Given the description of an element on the screen output the (x, y) to click on. 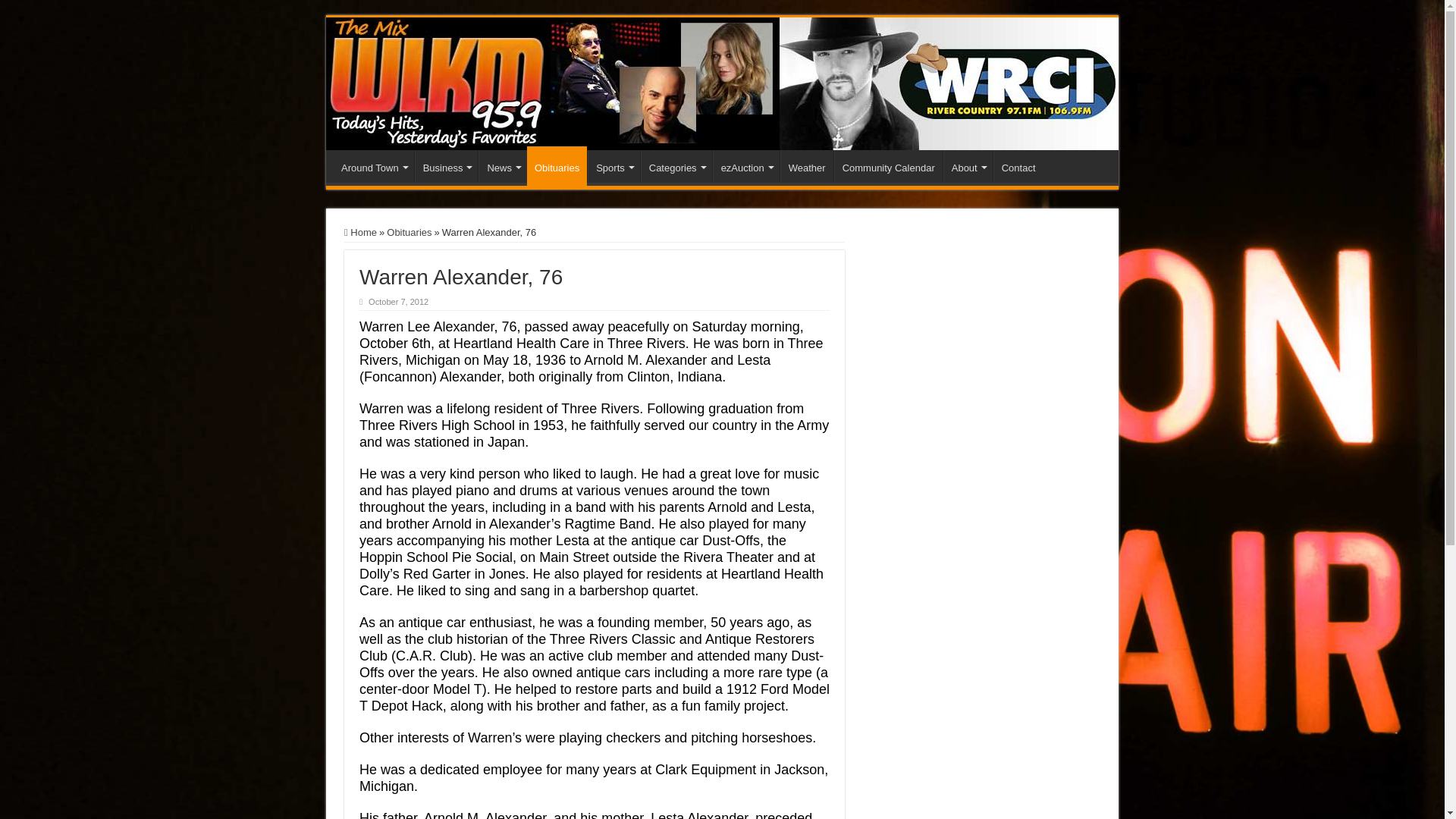
WLKM Radio 95.9 FM (722, 83)
Sports (614, 165)
Around Town (373, 165)
News (503, 165)
Business (446, 165)
Obituaries (556, 165)
Categories (675, 165)
